Given the description of an element on the screen output the (x, y) to click on. 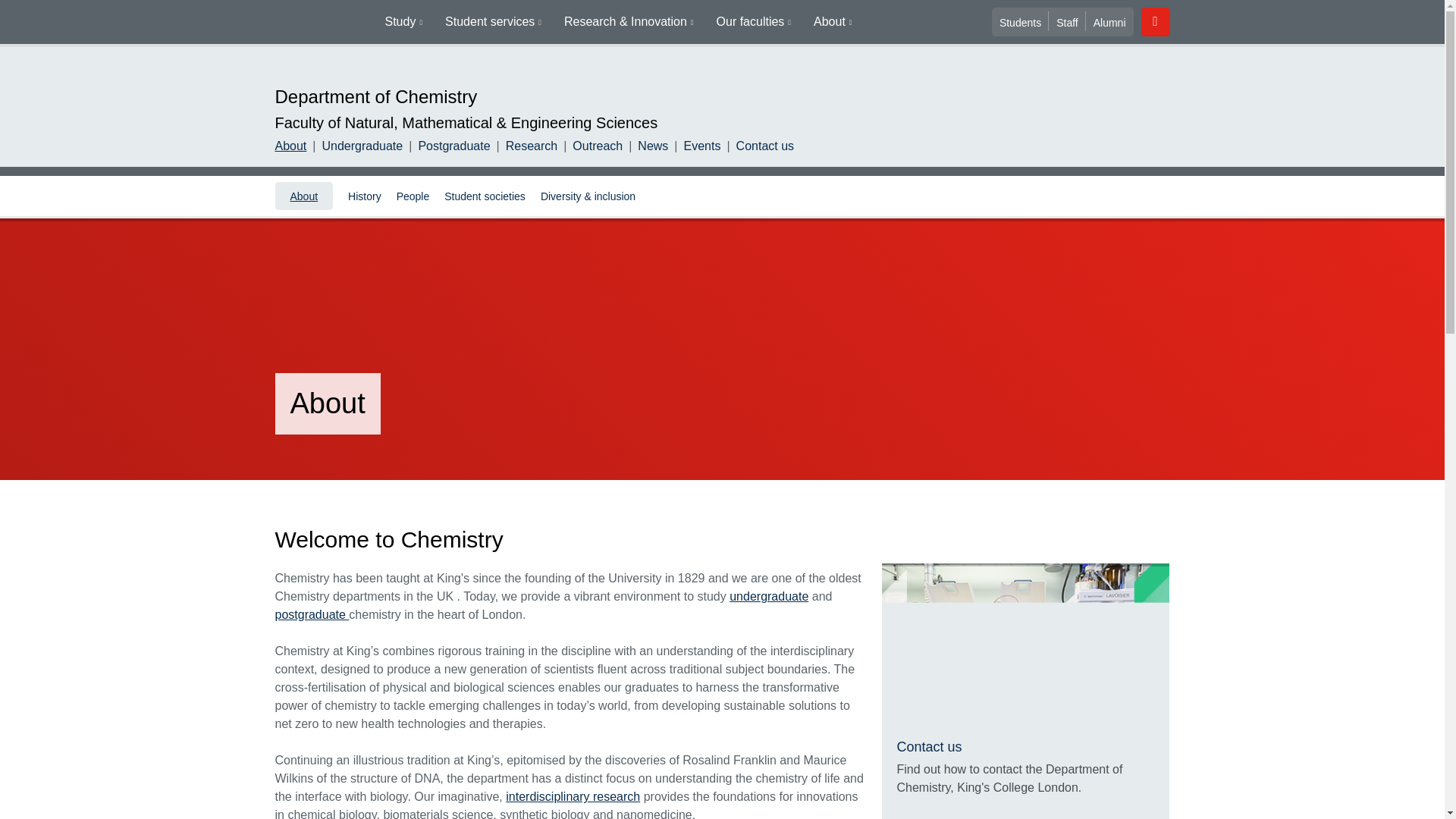
Study (402, 22)
Student services (493, 22)
King's College London (323, 38)
Study (402, 22)
Our faculties (753, 22)
Student services (493, 22)
King's College London - Back to homepage (323, 38)
